Given the description of an element on the screen output the (x, y) to click on. 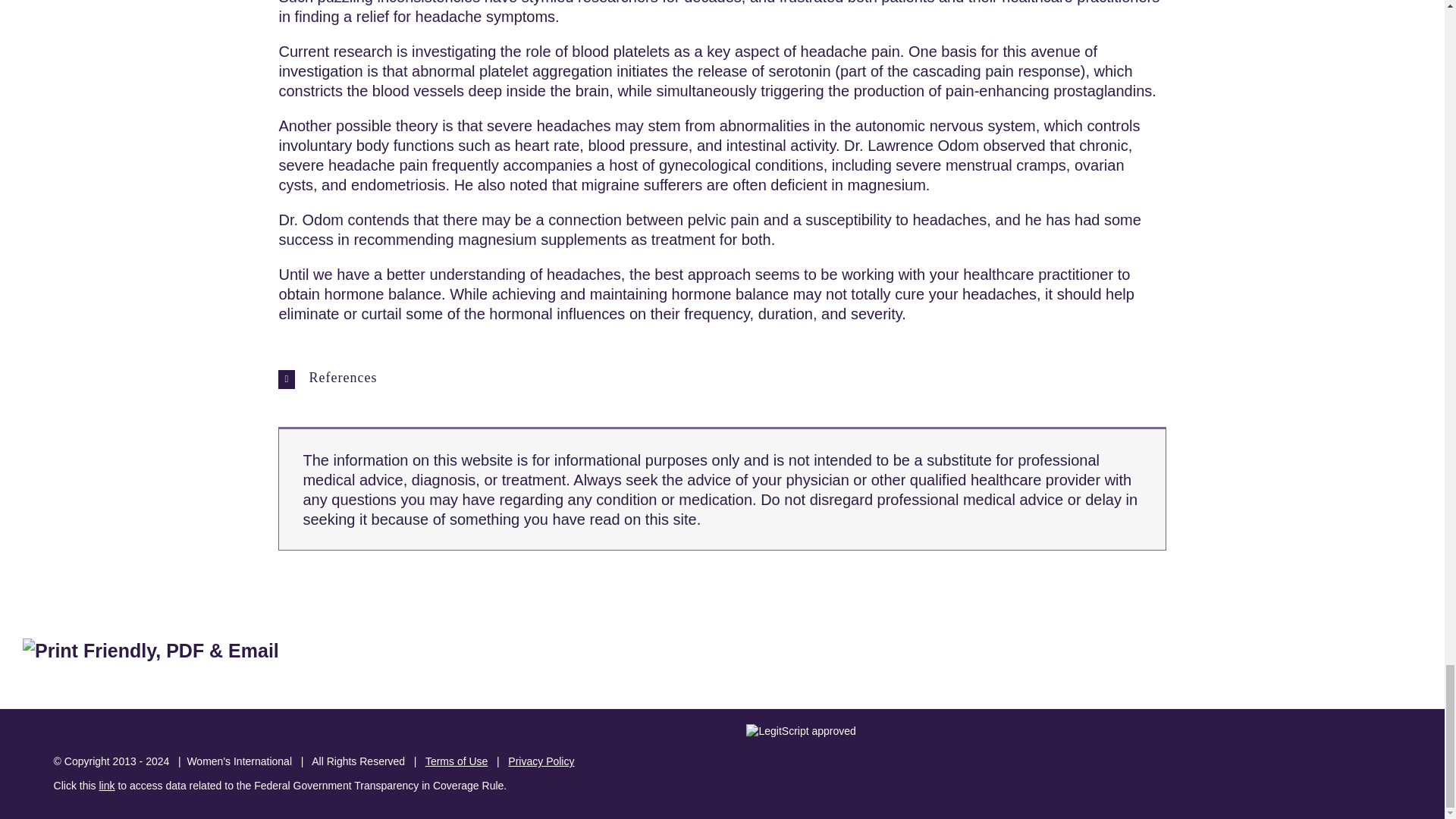
link (107, 785)
Privacy Policy (540, 761)
Women's International (239, 761)
Verify LegitScript Approval (800, 730)
Terms of Use (456, 761)
References (722, 378)
